Given the description of an element on the screen output the (x, y) to click on. 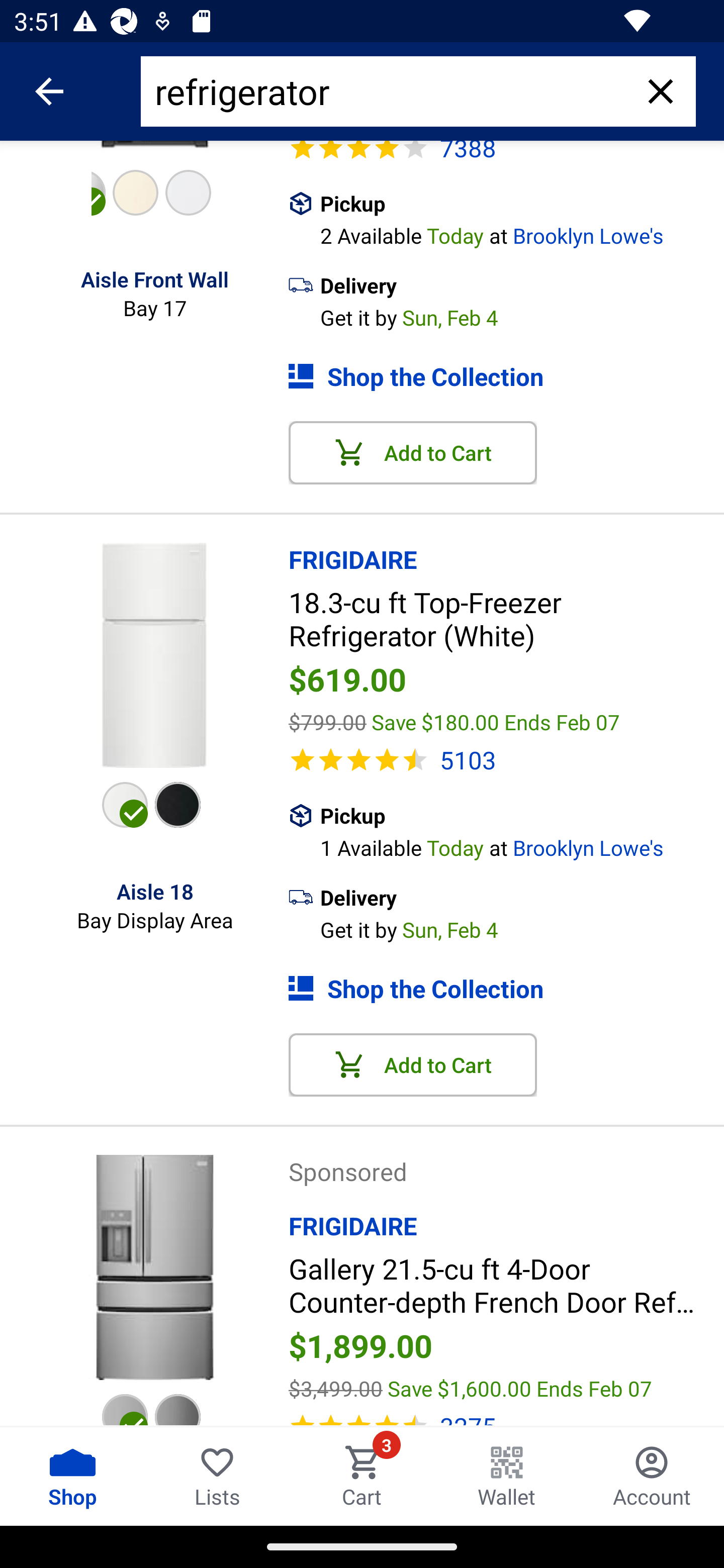
Navigate up (49, 91)
refrigerator (389, 91)
2 Available Today  at  Brooklyn Lowe's (522, 233)
Shop the Collection (506, 376)
Add to Cart (412, 452)
1 Available Today  at  Brooklyn Lowe's (522, 845)
Shop the Collection (506, 988)
Add to Cart (412, 1064)
Lists (216, 1475)
Cart Cart 3 (361, 1475)
Wallet (506, 1475)
Account (651, 1475)
